Given the description of an element on the screen output the (x, y) to click on. 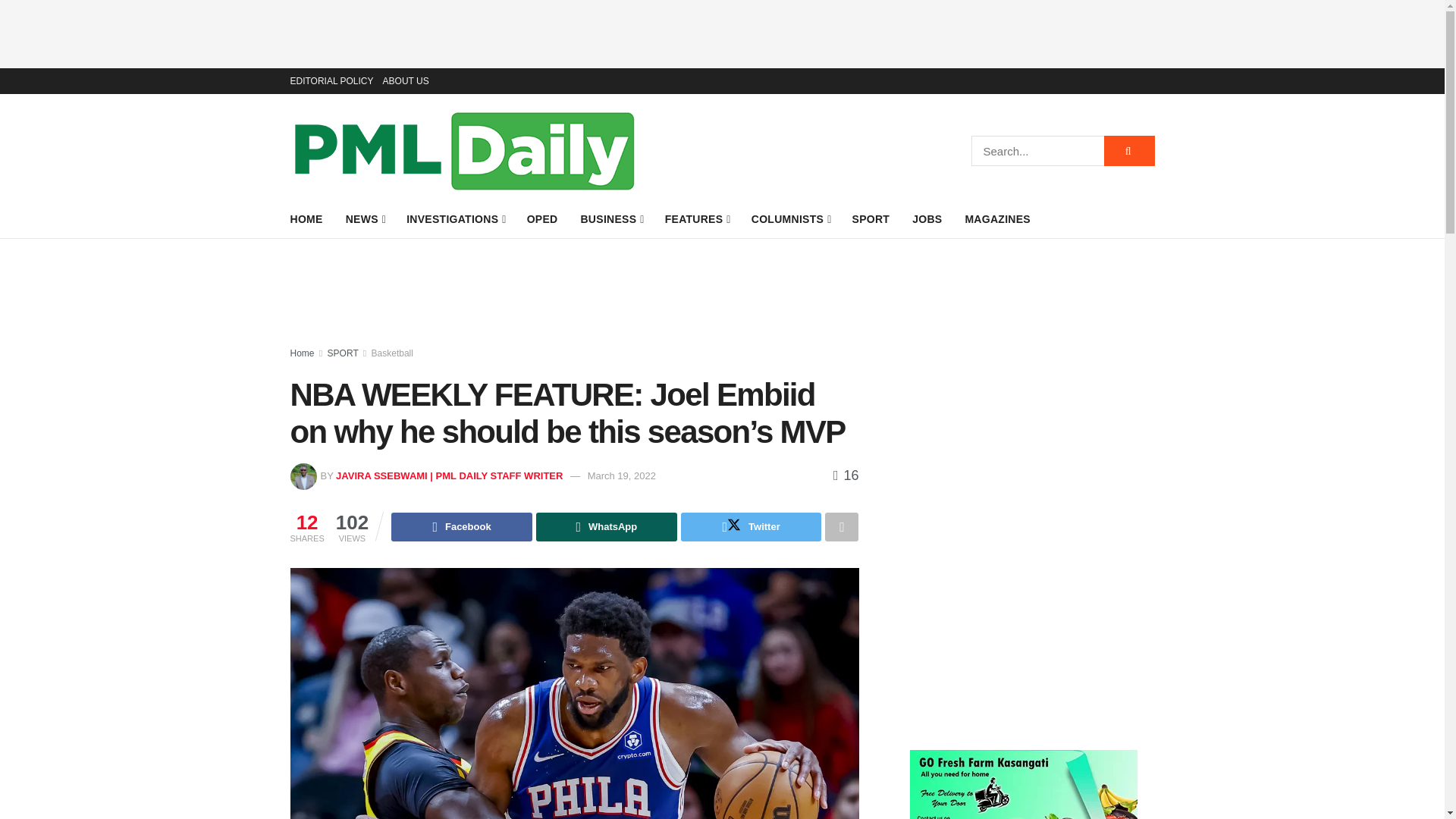
NEWS (365, 219)
JOBS (927, 219)
MAGAZINES (996, 219)
SPORT (870, 219)
ABOUT US (405, 80)
BUSINESS (610, 219)
OPED (542, 219)
HOME (305, 219)
INVESTIGATIONS (454, 219)
COLUMNISTS (790, 219)
